Given the description of an element on the screen output the (x, y) to click on. 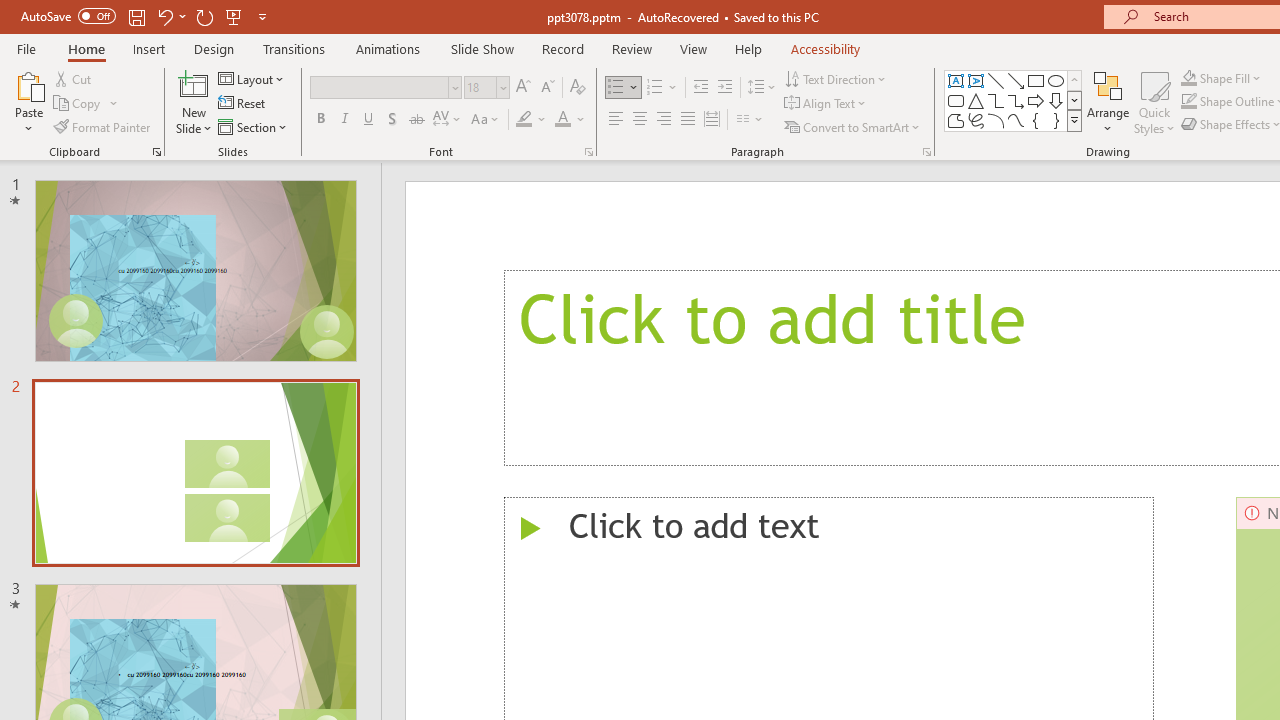
Isosceles Triangle (975, 100)
Shape Fill (1221, 78)
Arrow: Down (1055, 100)
Character Spacing (447, 119)
Justify (687, 119)
Font... (588, 151)
Underline (369, 119)
Office Clipboard... (156, 151)
Bold (320, 119)
